Given the description of an element on the screen output the (x, y) to click on. 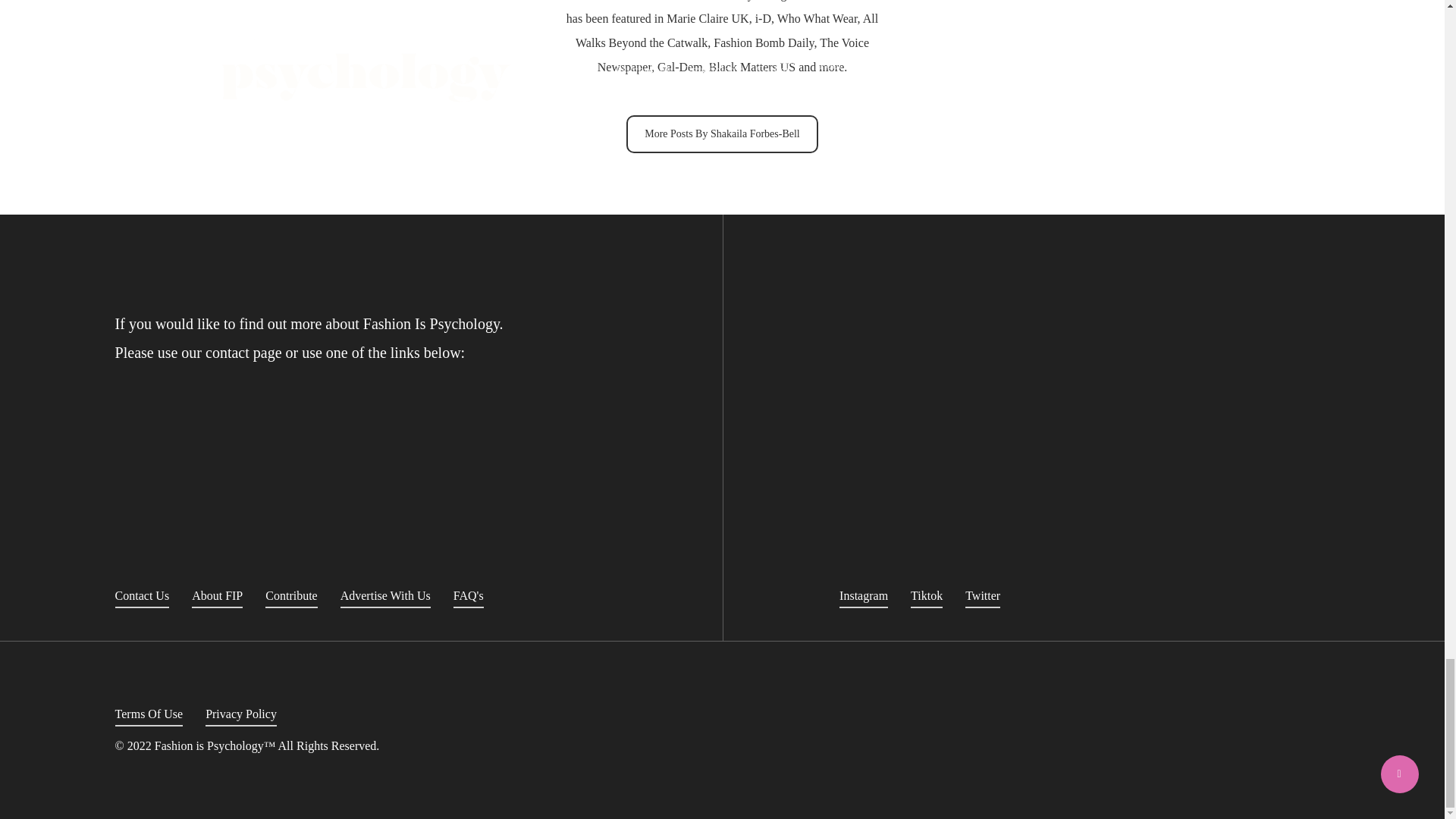
FAQ'S (467, 595)
Terms Of Use (149, 713)
Instagram (864, 595)
Privacy Policy (240, 713)
About FIP (217, 595)
Advertise With Us (385, 595)
More Posts By Shakaila Forbes-Bell (722, 134)
Tiktok (926, 595)
Contact Us (142, 595)
Twitter (982, 595)
SUBSCRIBE (1002, 458)
Contribute (290, 595)
